Given the description of an element on the screen output the (x, y) to click on. 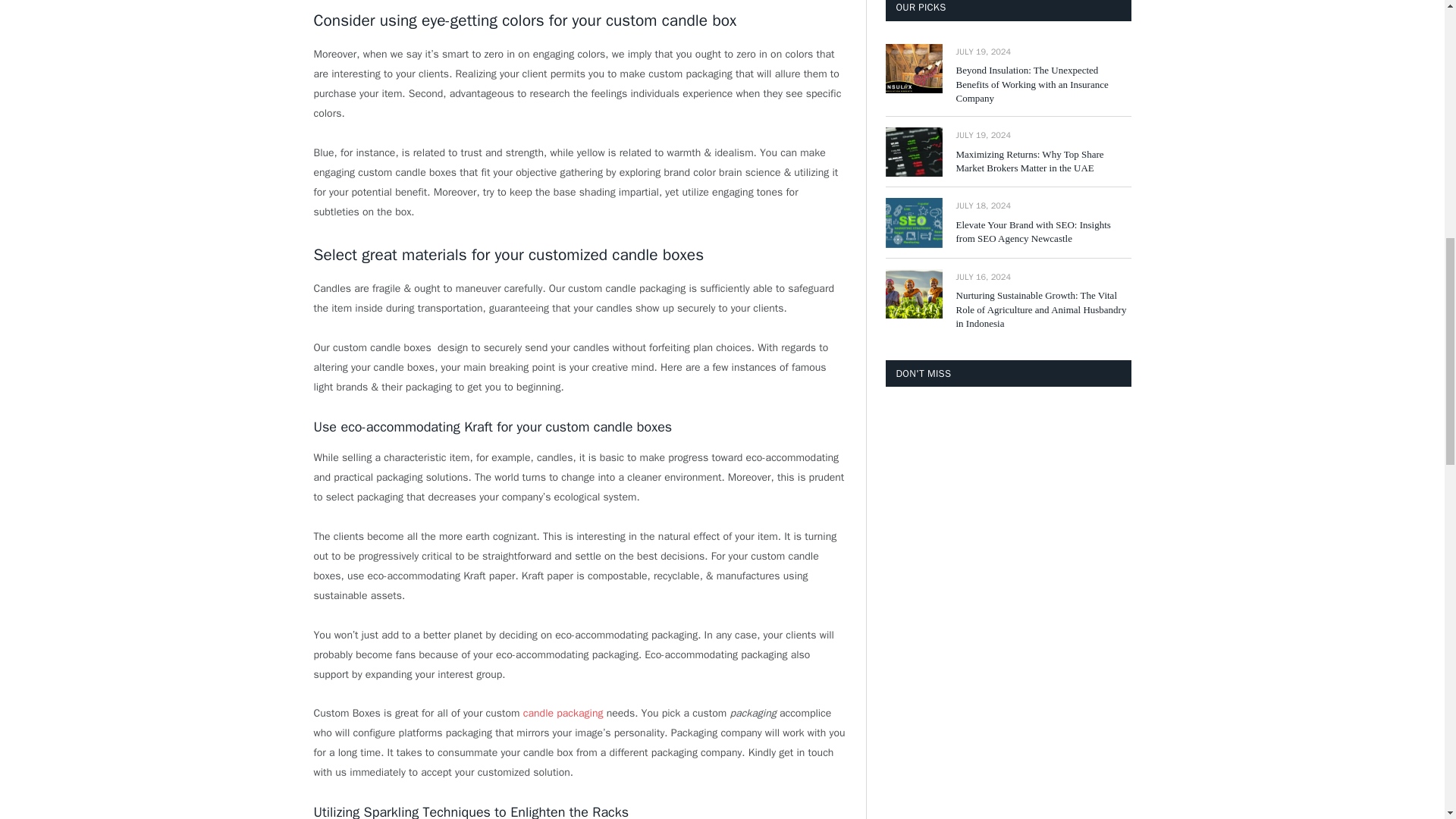
candle packaging (564, 712)
